Given the description of an element on the screen output the (x, y) to click on. 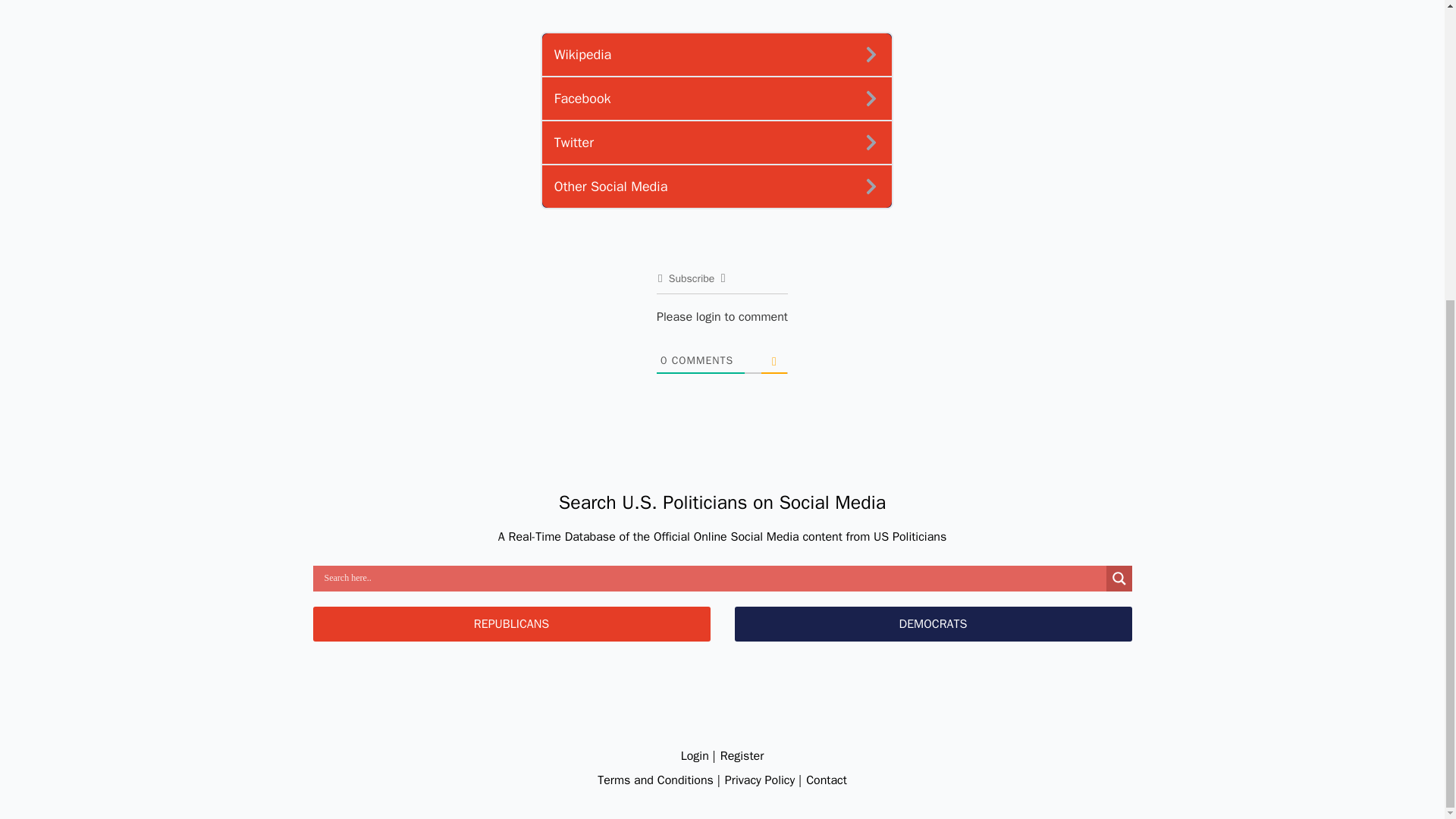
Contact (826, 780)
Twitter (716, 143)
REPUBLICANS (511, 623)
Other Social Media (716, 186)
Register (742, 755)
Wikipedia (716, 54)
DEMOCRATS (932, 623)
Facebook (716, 98)
